Given the description of an element on the screen output the (x, y) to click on. 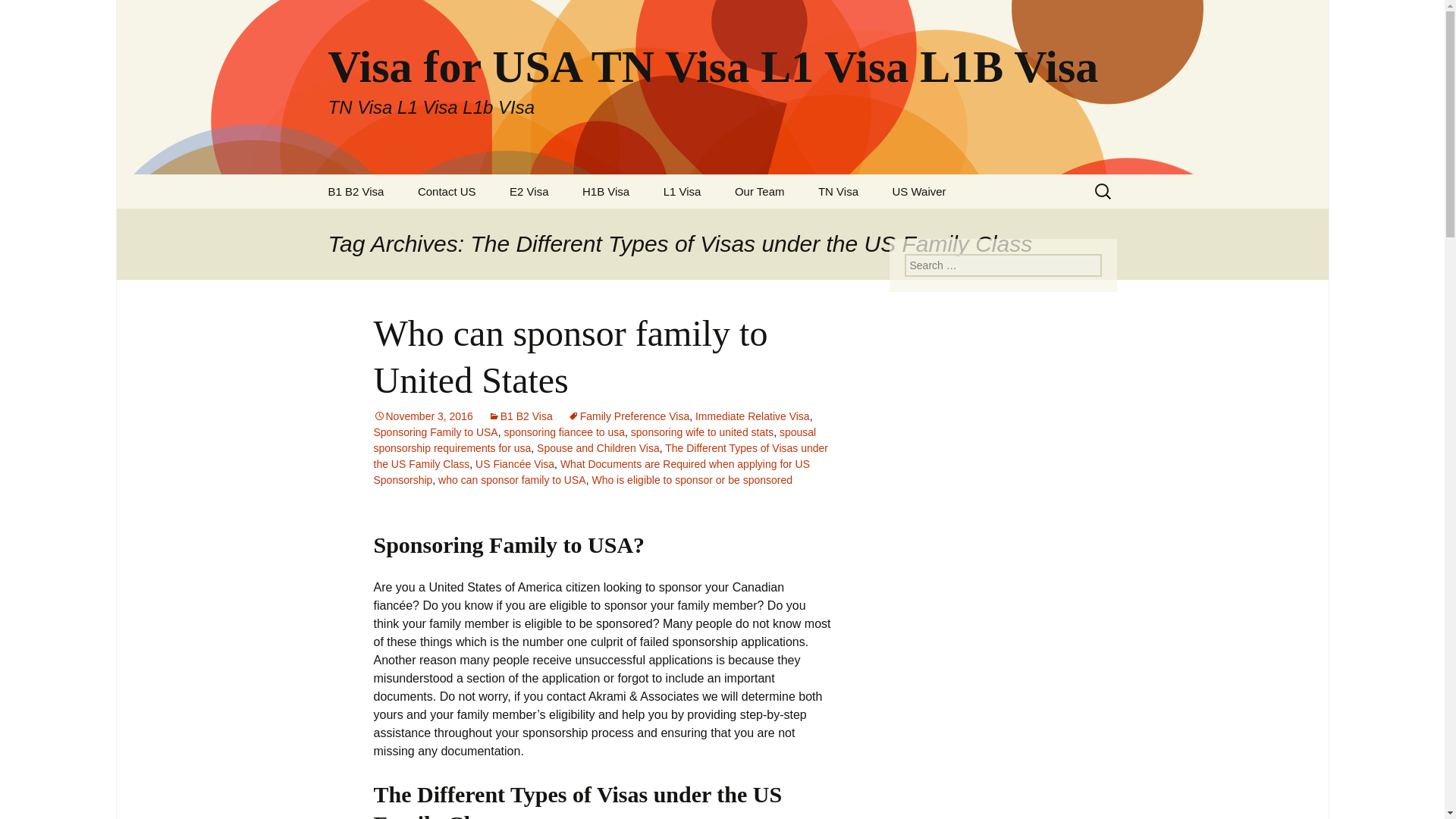
US Waiver (918, 191)
Who is eligible to sponsor or be sponsored (691, 480)
Who can sponsor family to United States (569, 356)
H1B Visa (606, 191)
Immediate Relative Visa (752, 416)
L1 Visa (681, 191)
The Different Types of Visas under the US Family Class (600, 456)
Search (34, 15)
E2 Visa (529, 191)
Search (18, 15)
